Given the description of an element on the screen output the (x, y) to click on. 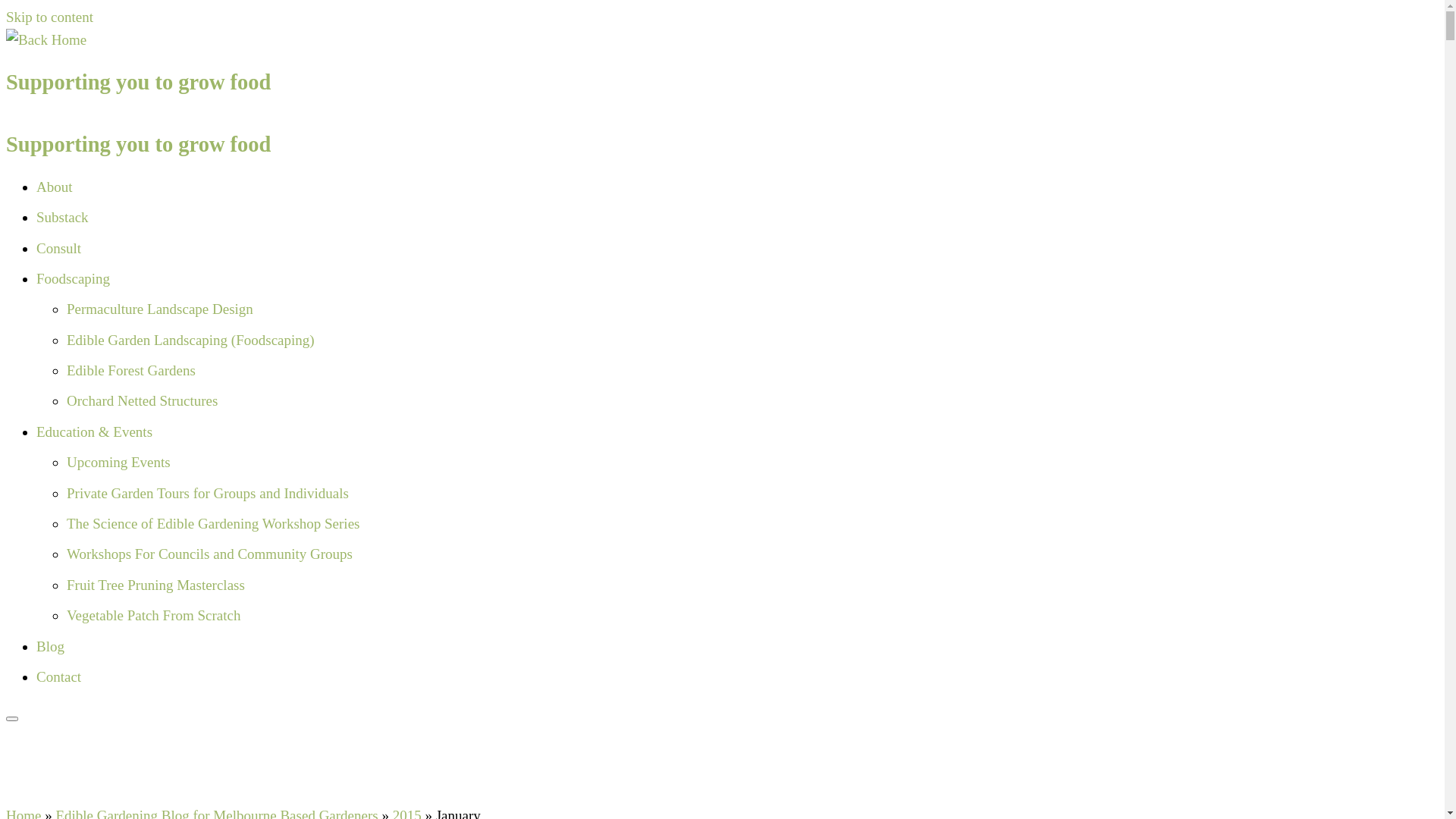
Open the menu Element type: hover (12, 718)
Workshops For Councils and Community Groups Element type: text (209, 553)
Upcoming Events Element type: text (118, 462)
Consult Element type: text (58, 247)
Contact Element type: text (58, 676)
Foodscaping Element type: text (72, 278)
Edible Forest Gardens Element type: text (130, 370)
Substack Element type: text (62, 217)
Fruit Tree Pruning Masterclass Element type: text (155, 585)
Vegetable Patch From Scratch Element type: text (153, 615)
Blog Element type: text (50, 646)
About Element type: text (54, 186)
Orchard Netted Structures Element type: text (141, 400)
Education & Events Element type: text (94, 431)
Edible Garden Landscaping (Foodscaping) Element type: text (190, 340)
Permaculture Landscape Design Element type: text (159, 308)
Private Garden Tours for Groups and Individuals Element type: text (207, 493)
The Science of Edible Gardening Workshop Series Element type: text (212, 523)
Skip to content Element type: text (49, 17)
